Given the description of an element on the screen output the (x, y) to click on. 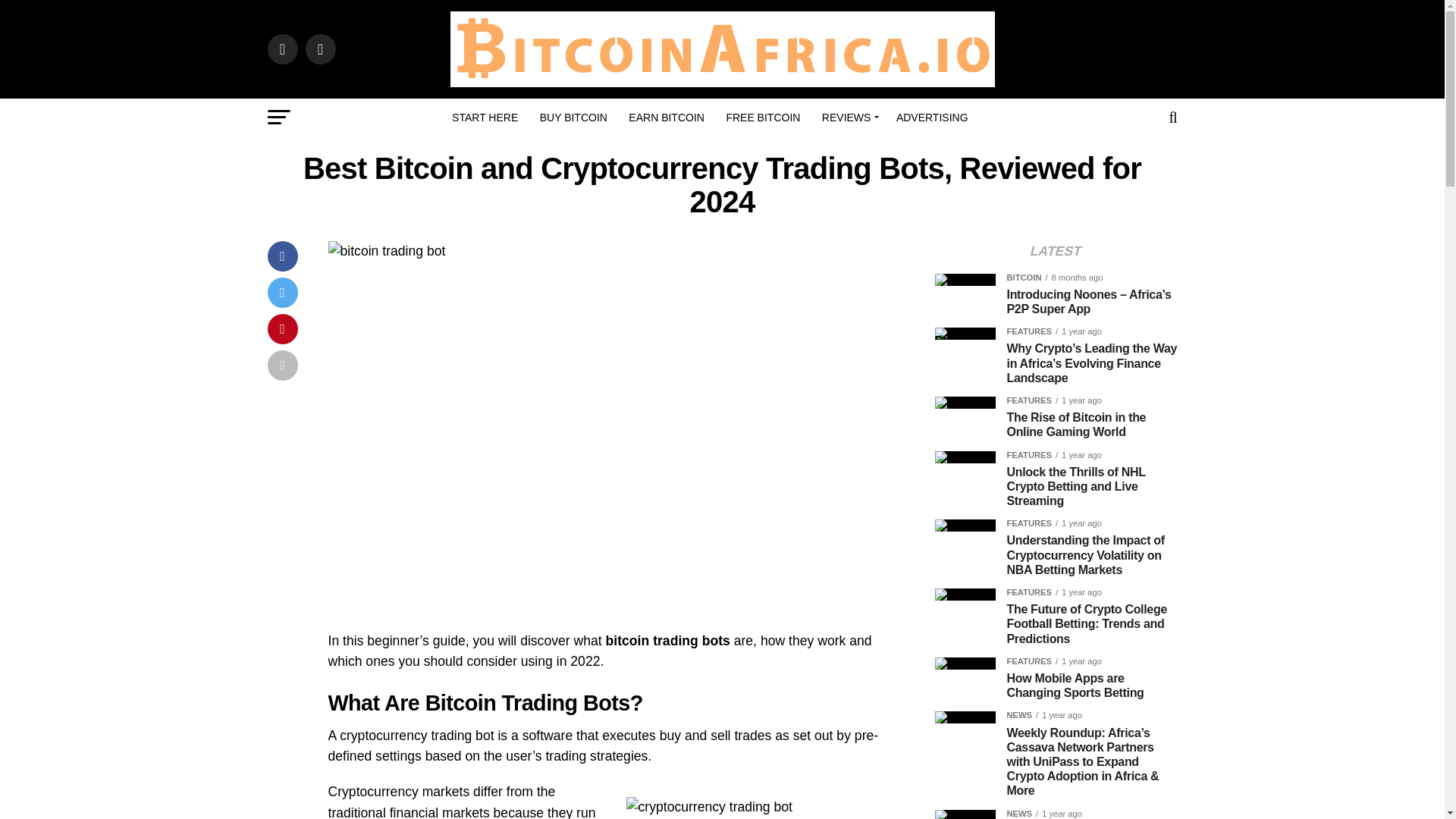
EARN BITCOIN (666, 117)
START HERE (484, 117)
BUY BITCOIN (573, 117)
REVIEWS (847, 117)
FREE BITCOIN (762, 117)
